Given the description of an element on the screen output the (x, y) to click on. 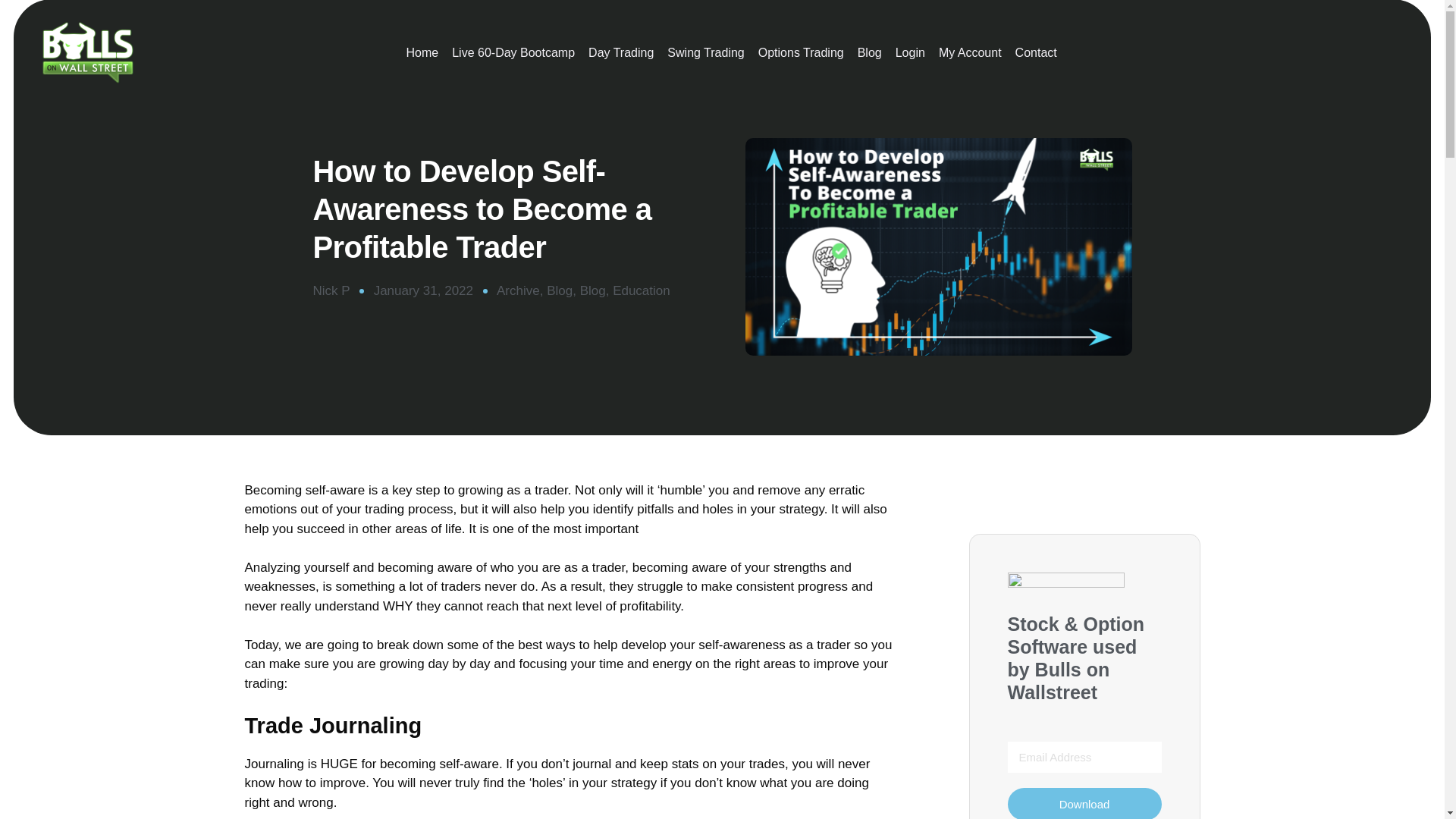
Options Trading (800, 52)
Home (421, 52)
Contact (1036, 52)
Swing Trading (706, 52)
My Account (970, 52)
Live 60-Day Bootcamp (512, 52)
Login (909, 52)
Day Trading (620, 52)
Blog (869, 52)
